Given the description of an element on the screen output the (x, y) to click on. 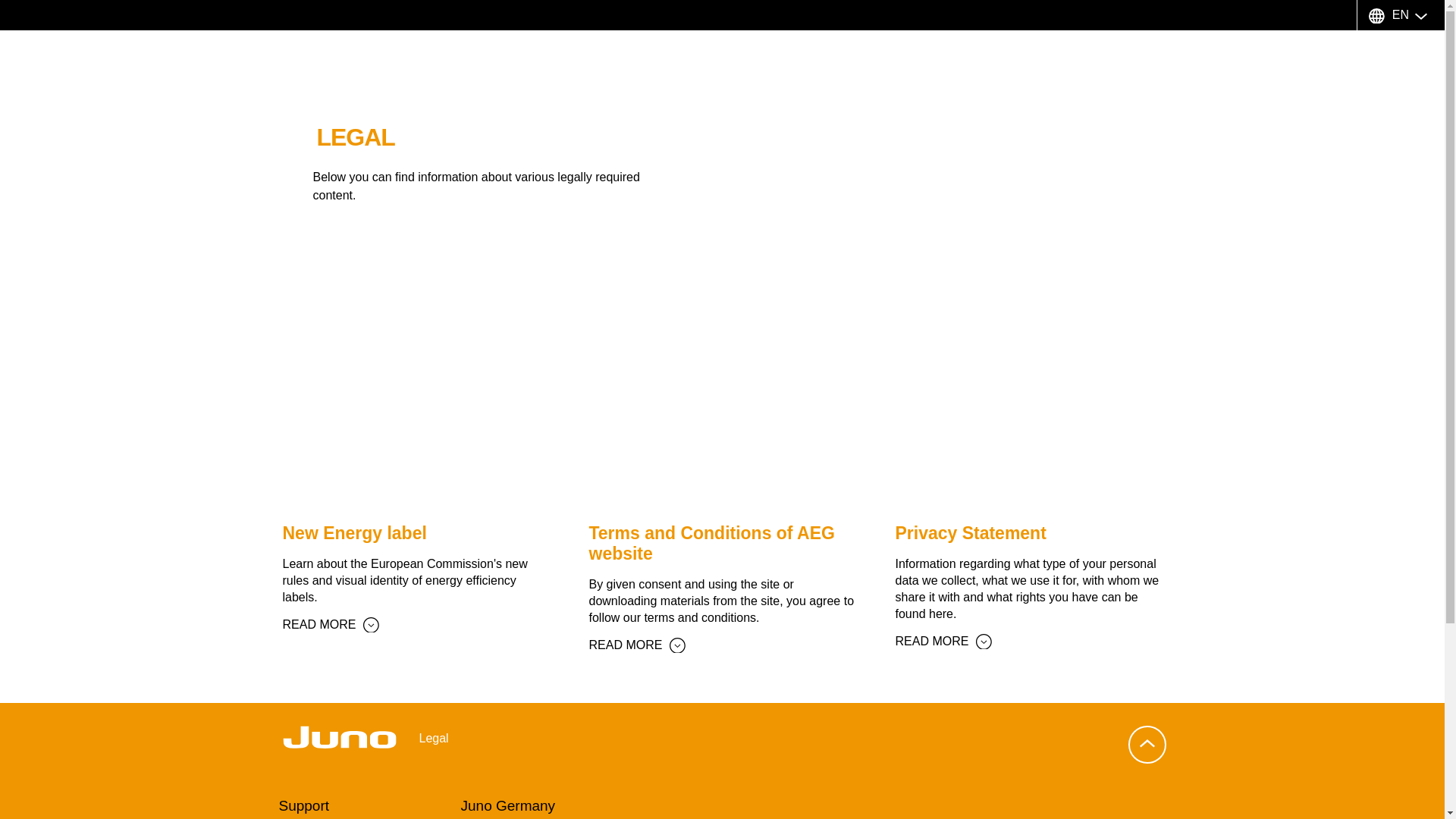
READ MORE (943, 641)
READ MORE (636, 644)
Search (1400, 58)
READ MORE (330, 625)
navigateToTop (1147, 744)
